Given the description of an element on the screen output the (x, y) to click on. 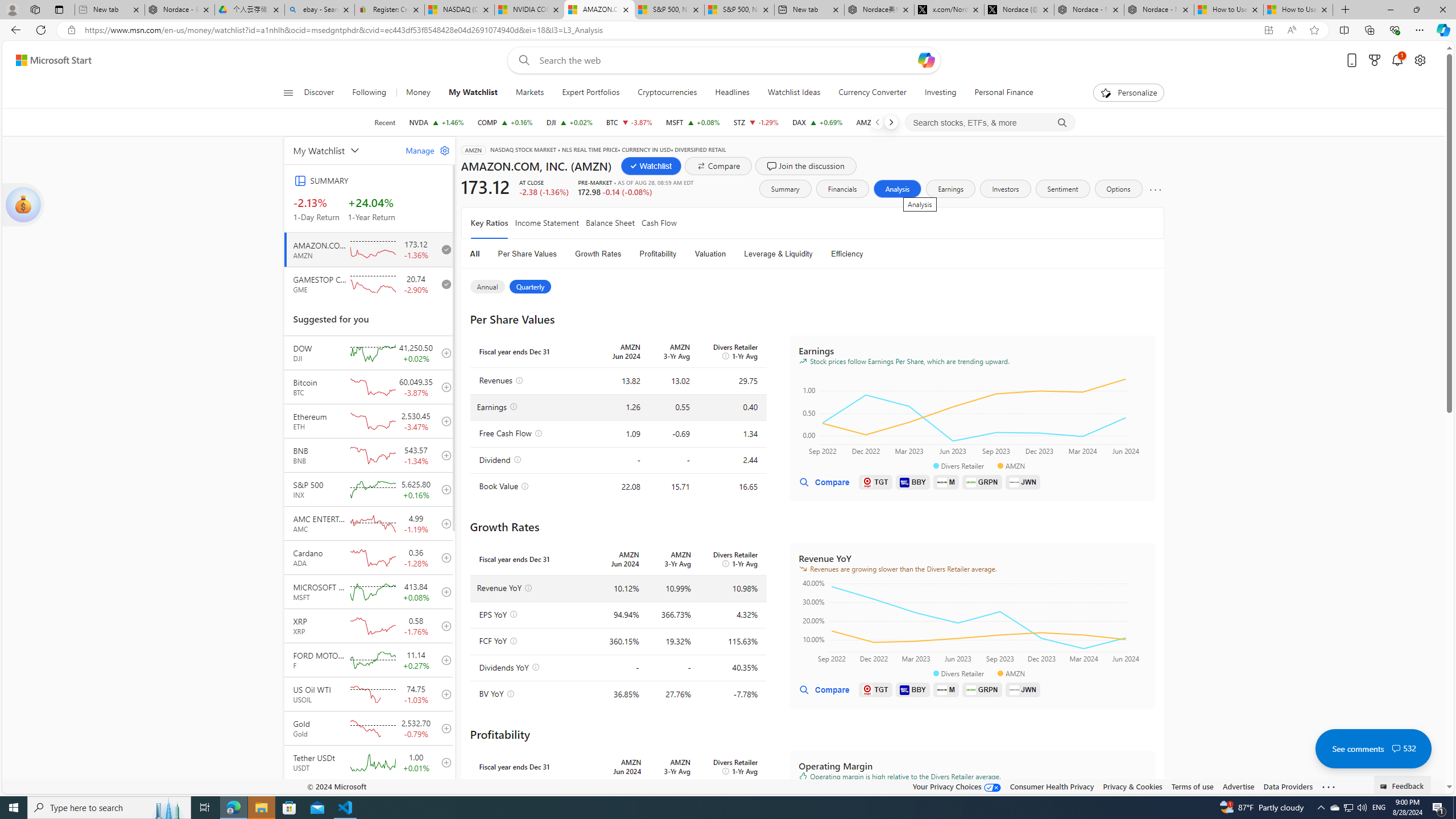
Class: imagIcon-DS-EntryPoint1-1 (1014, 689)
Privacy & Cookies (1131, 786)
My Watchlist (472, 92)
How to Use a Monitor With Your Closed Laptop (1297, 9)
Personalize (1128, 92)
Profitability (657, 253)
Growth Rates (598, 253)
Markets (529, 92)
Advertise (1238, 786)
NVDA NVIDIA CORPORATION increase 128.30 +1.84 +1.46% (435, 122)
Open Copilot (926, 59)
